Given the description of an element on the screen output the (x, y) to click on. 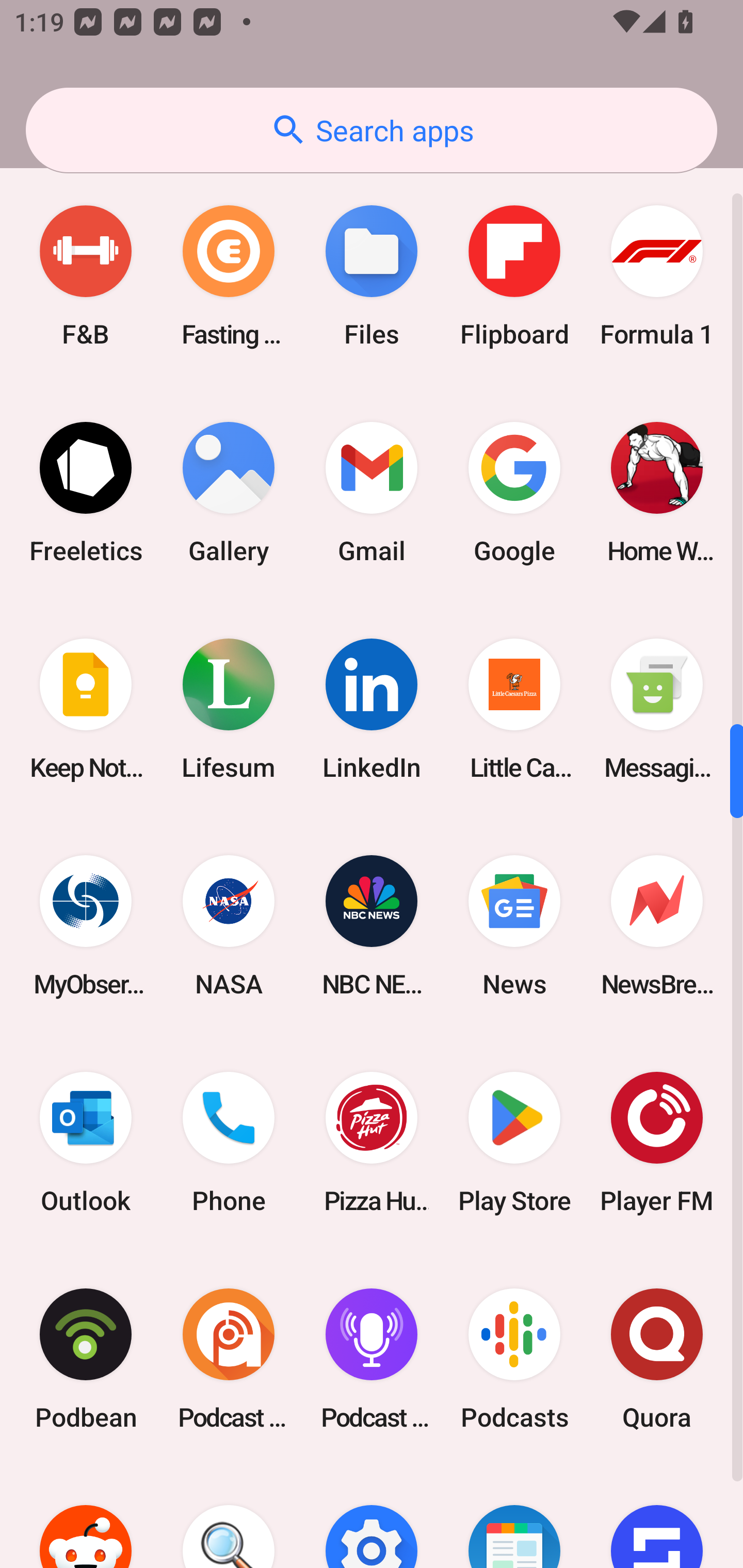
  Search apps (371, 130)
F&B (85, 275)
Fasting Coach (228, 275)
Files (371, 275)
Flipboard (514, 275)
Formula 1 (656, 275)
Freeletics (85, 492)
Gallery (228, 492)
Gmail (371, 492)
Google (514, 492)
Home Workout (656, 492)
Keep Notes (85, 708)
Lifesum (228, 708)
LinkedIn (371, 708)
Little Caesars Pizza (514, 708)
Messaging (656, 708)
MyObservatory (85, 925)
NASA (228, 925)
NBC NEWS (371, 925)
News (514, 925)
NewsBreak (656, 925)
Outlook (85, 1142)
Phone (228, 1142)
Pizza Hut HK & Macau (371, 1142)
Play Store (514, 1142)
Player FM (656, 1142)
Podbean (85, 1359)
Podcast Addict (228, 1359)
Podcast Player (371, 1359)
Podcasts (514, 1359)
Quora (656, 1359)
Reddit (85, 1517)
Search (228, 1517)
Settings (371, 1517)
SmartNews (514, 1517)
Sofascore (656, 1517)
